Given the description of an element on the screen output the (x, y) to click on. 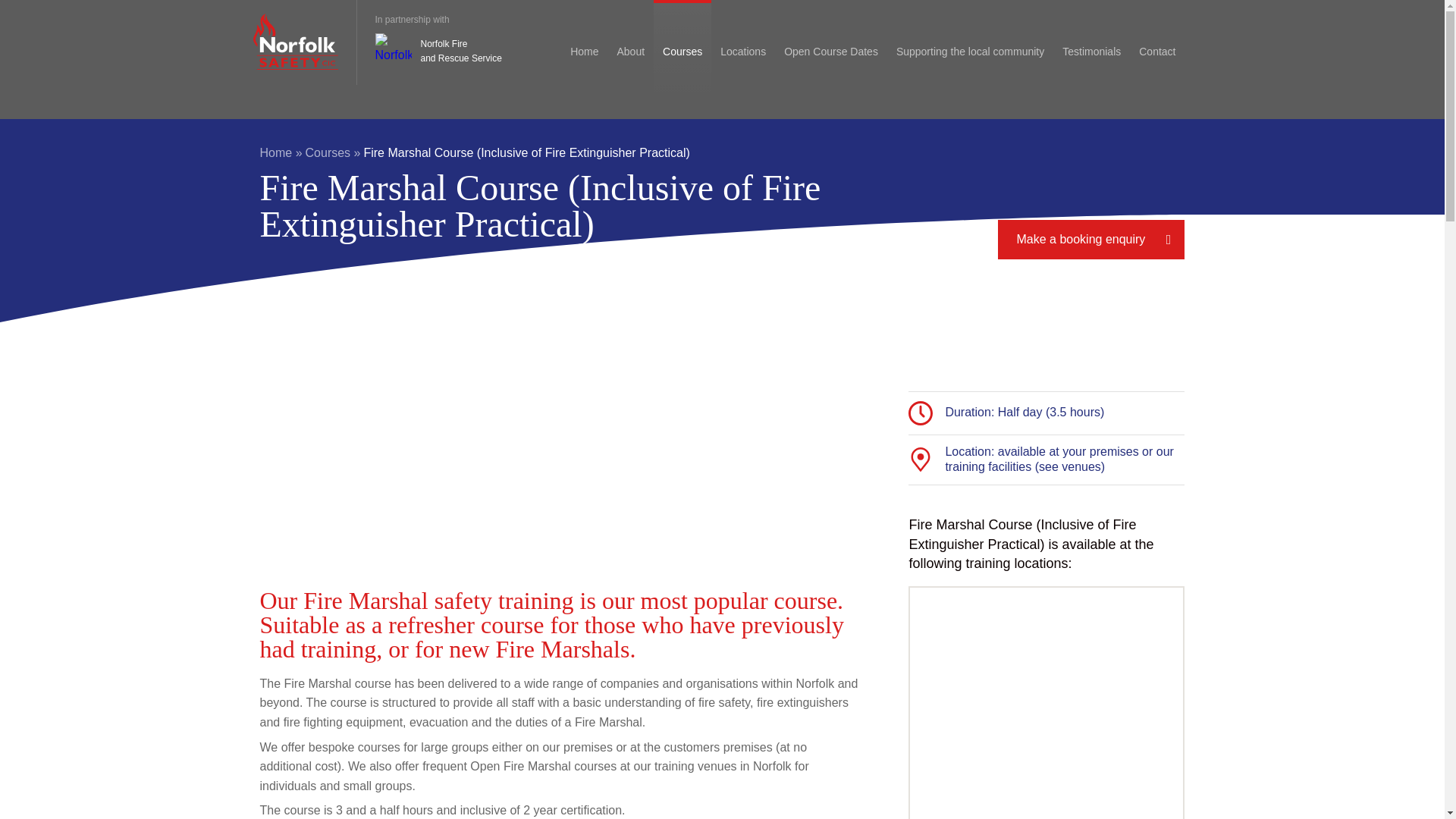
Make a booking enquiry (1091, 239)
Home (280, 152)
Courses (333, 152)
Open Course Dates (437, 51)
Supporting the local community (830, 49)
